Given the description of an element on the screen output the (x, y) to click on. 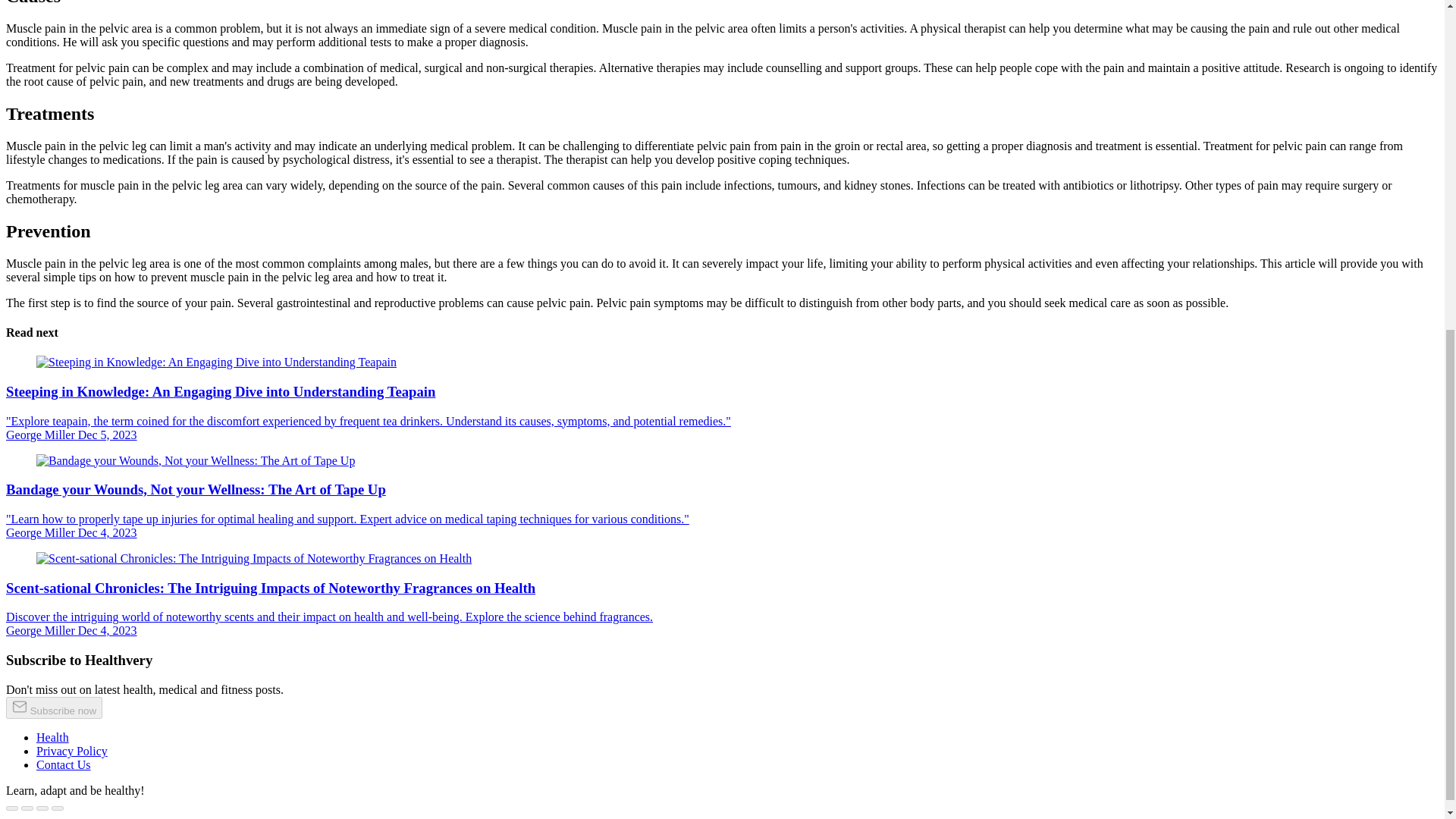
Subscribe now (53, 707)
Health (52, 737)
Contact Us (63, 764)
Toggle fullscreen (42, 807)
Privacy Policy (71, 750)
Share (27, 807)
